Given the description of an element on the screen output the (x, y) to click on. 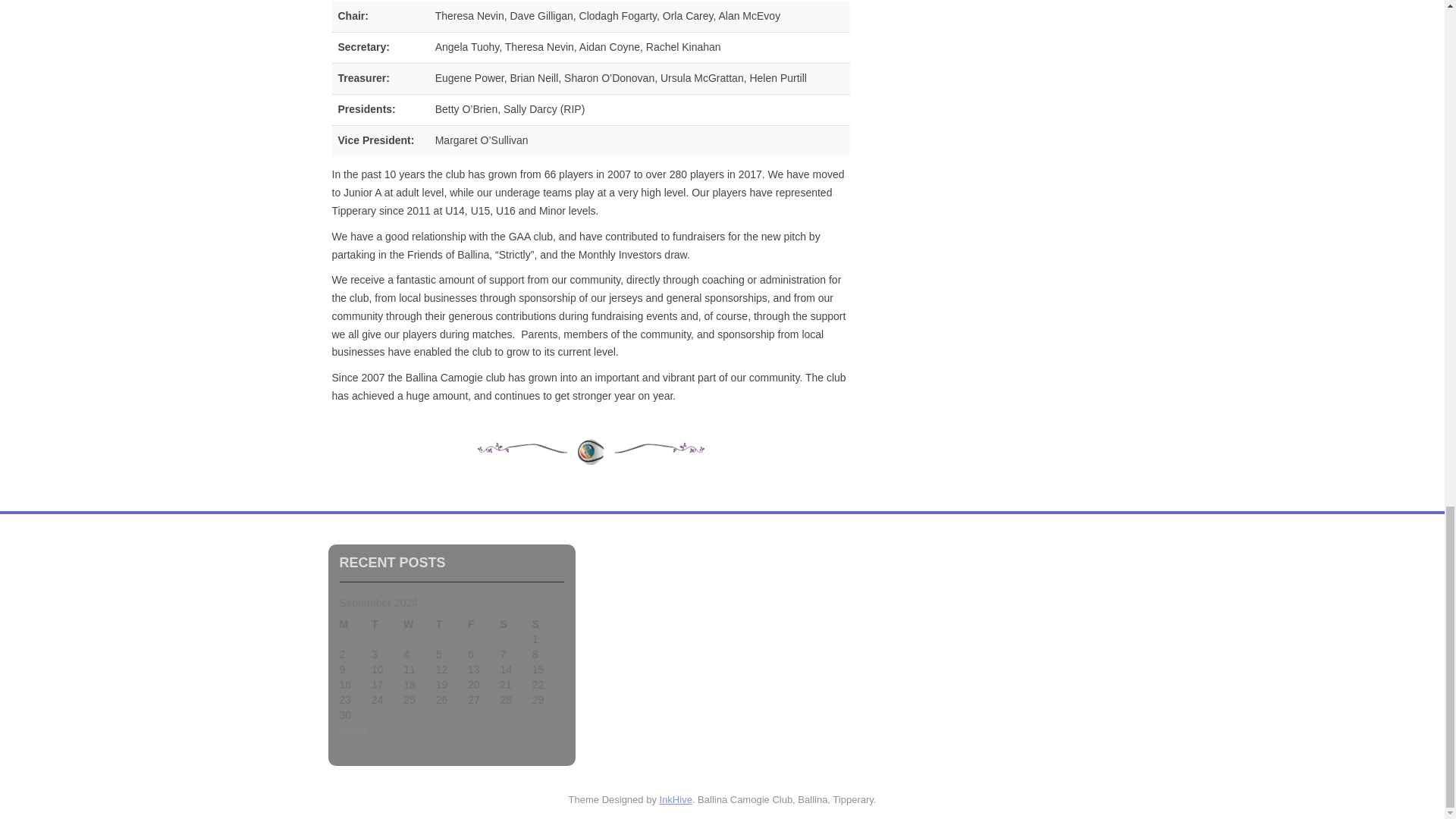
Saturday (515, 624)
Sunday (548, 624)
Friday (483, 624)
Thursday (451, 624)
Monday (355, 624)
InkHive (676, 799)
Tuesday (387, 624)
Wednesday (419, 624)
